Given the description of an element on the screen output the (x, y) to click on. 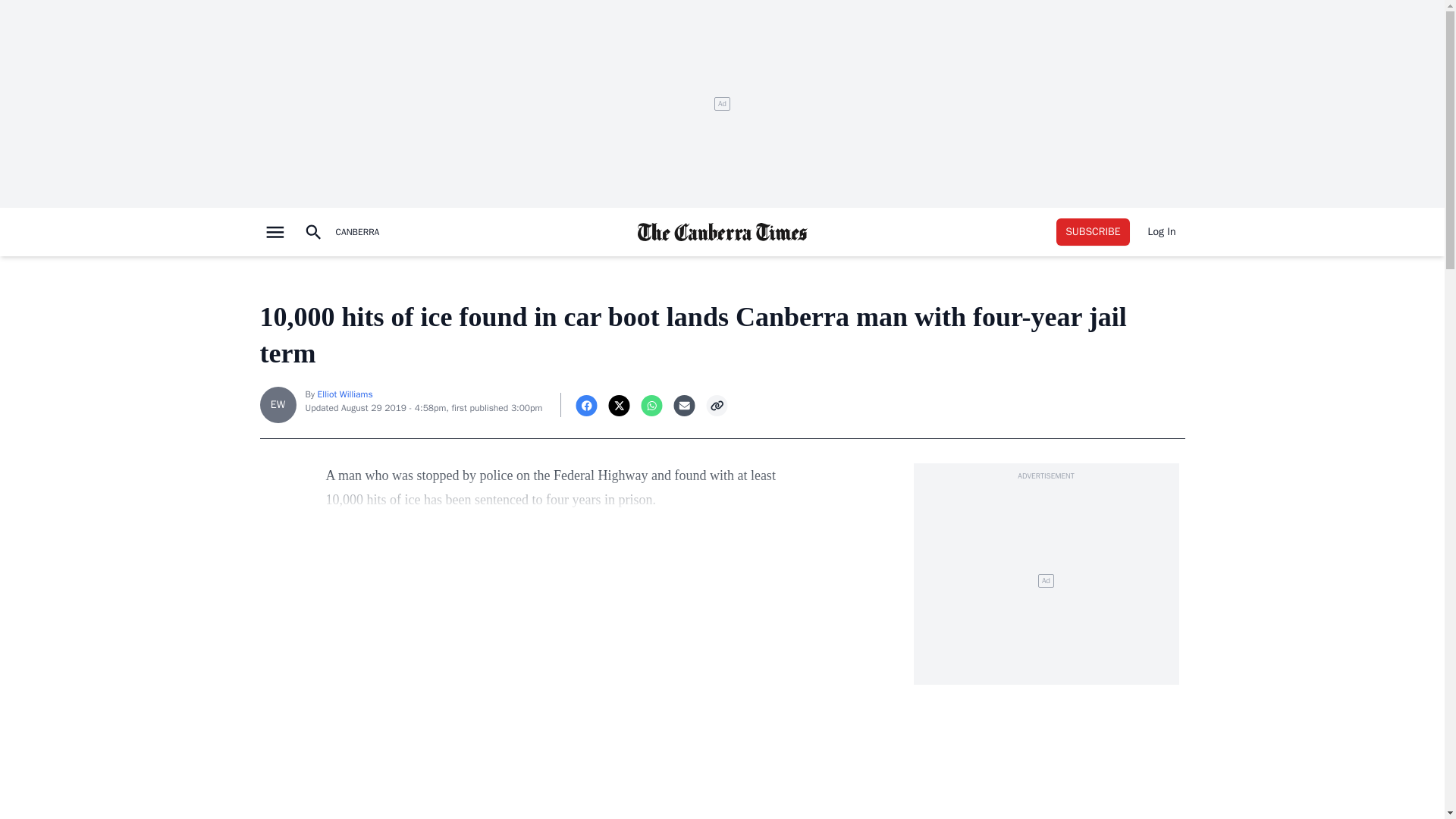
CANBERRA (357, 232)
SUBSCRIBE (1093, 231)
Log In (1161, 231)
